Given the description of an element on the screen output the (x, y) to click on. 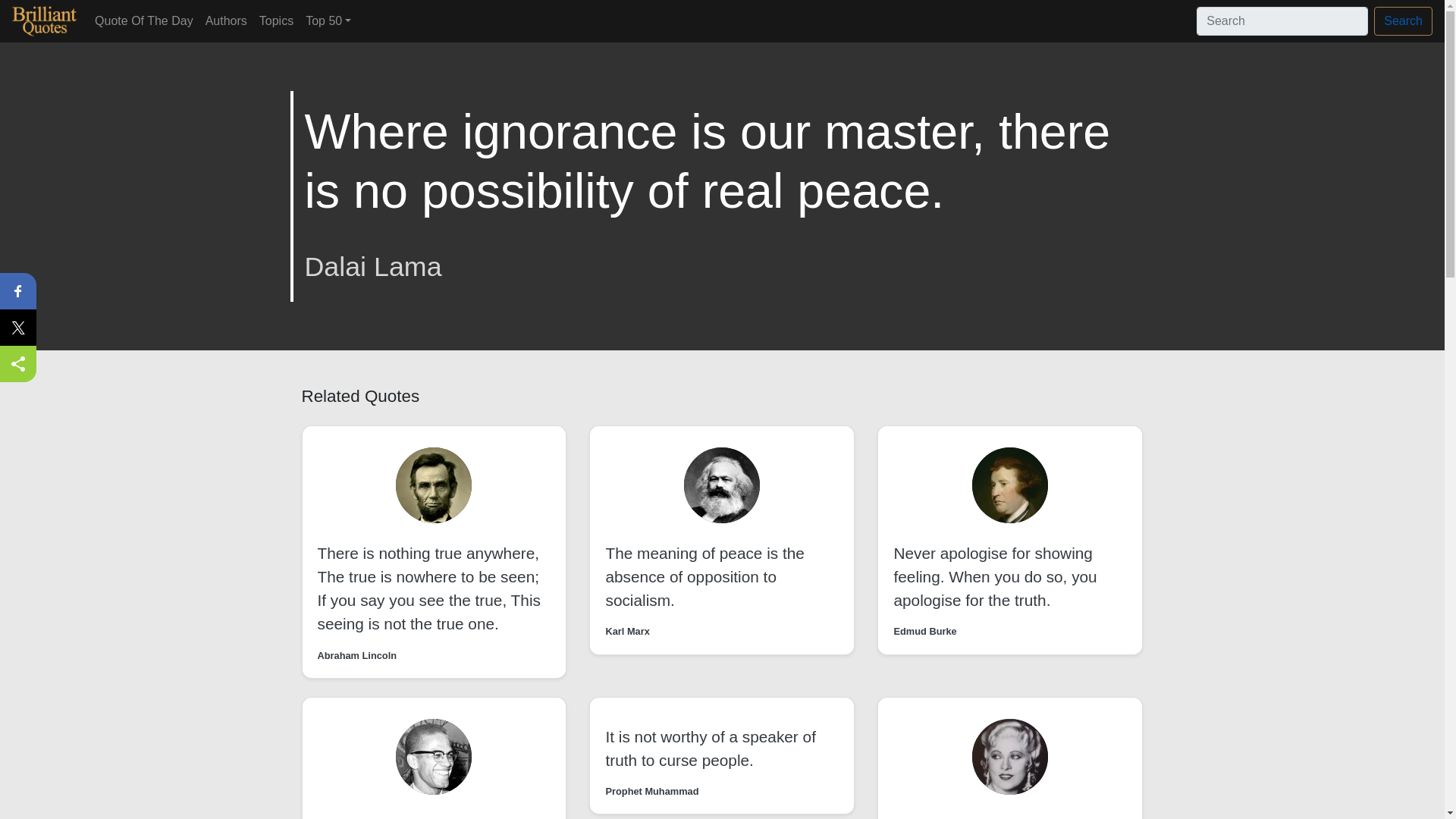
Topics (276, 20)
Abraham Lincoln (356, 655)
Karl Marx (627, 631)
Truth is on the side of the oppressed. (406, 817)
Top 50 (327, 20)
Authors (226, 20)
It is not worthy of a speaker of truth to curse people. (710, 748)
Prophet Muhammad (651, 790)
Edmud Burke (924, 631)
Search (1403, 21)
Quote Of The Day (143, 20)
